Given the description of an element on the screen output the (x, y) to click on. 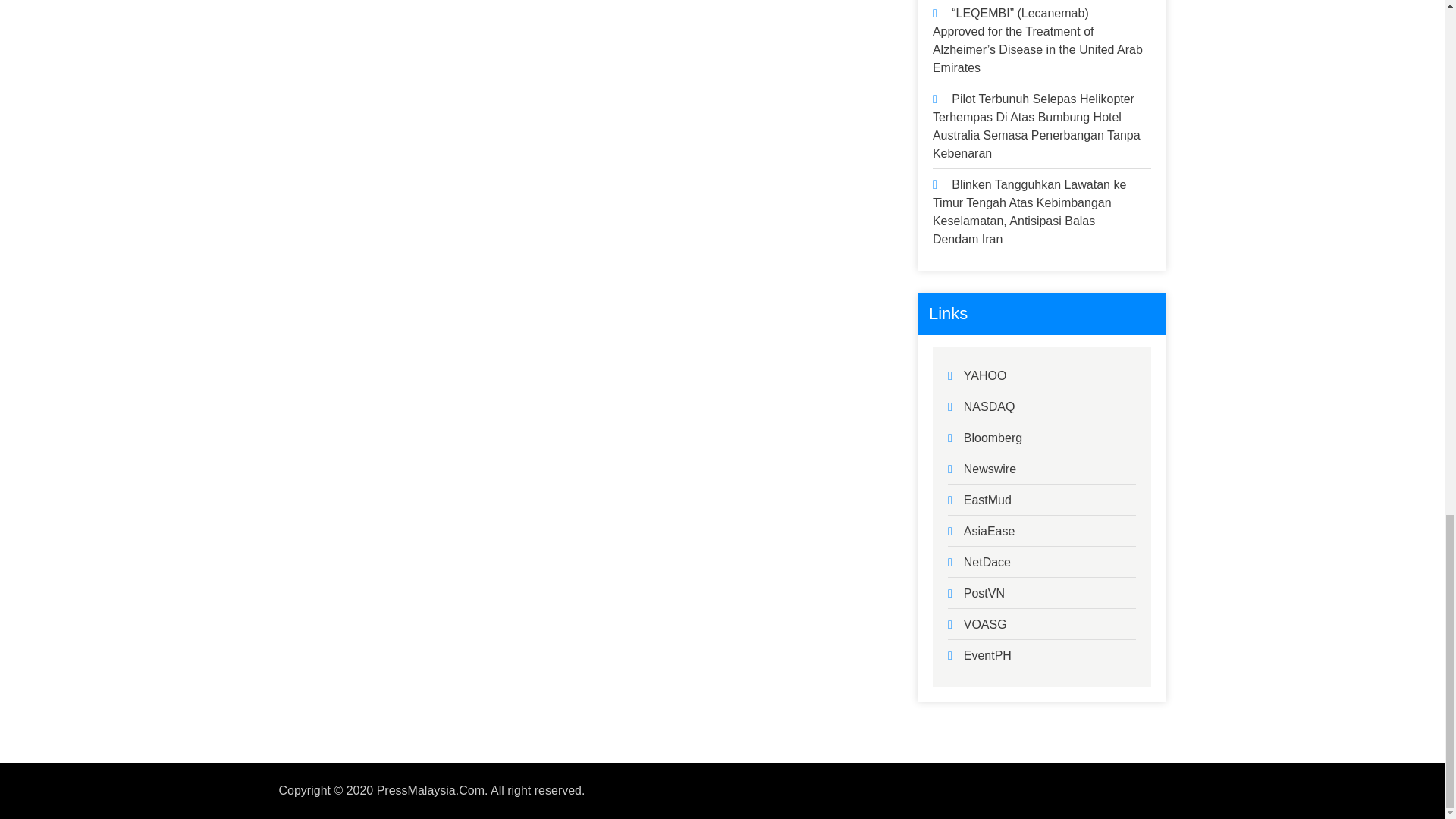
YAHOO (985, 375)
NASDAQ (988, 406)
